Given the description of an element on the screen output the (x, y) to click on. 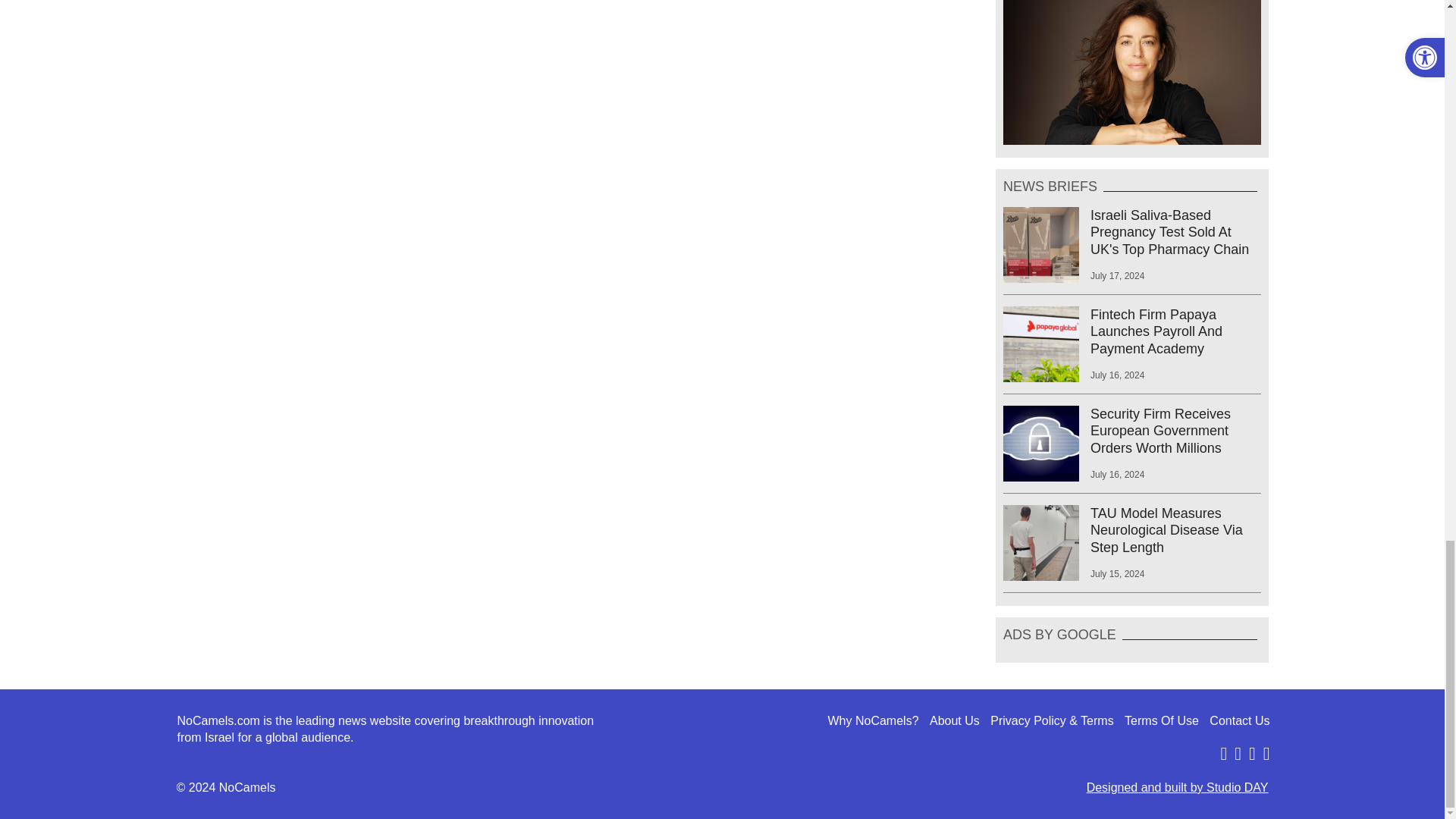
Why NoCamels? (873, 720)
Fintech Firm Papaya Launches Payroll And Payment Academy (1131, 331)
TAU Model Measures Neurological Disease Via Step Length (1131, 530)
